Given the description of an element on the screen output the (x, y) to click on. 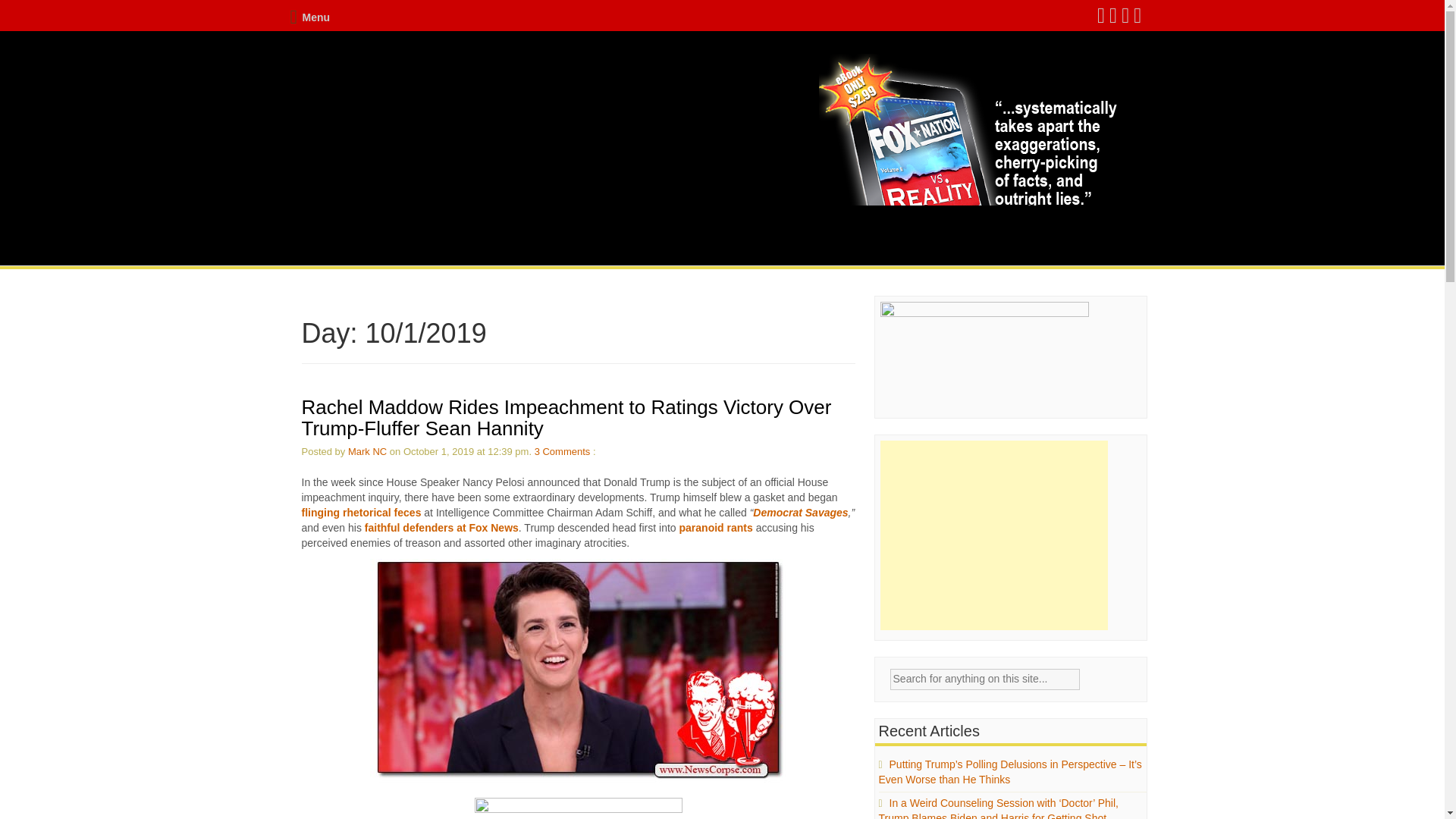
Comments (565, 451)
Menu (309, 17)
Mark NC (367, 451)
paranoid rants (715, 527)
flinging rhetorical feces (361, 512)
Fox Nation vs. Reality (971, 170)
Democrat Savages (799, 512)
Share on Facebook (578, 805)
Posts by Mark NC (367, 451)
